Given the description of an element on the screen output the (x, y) to click on. 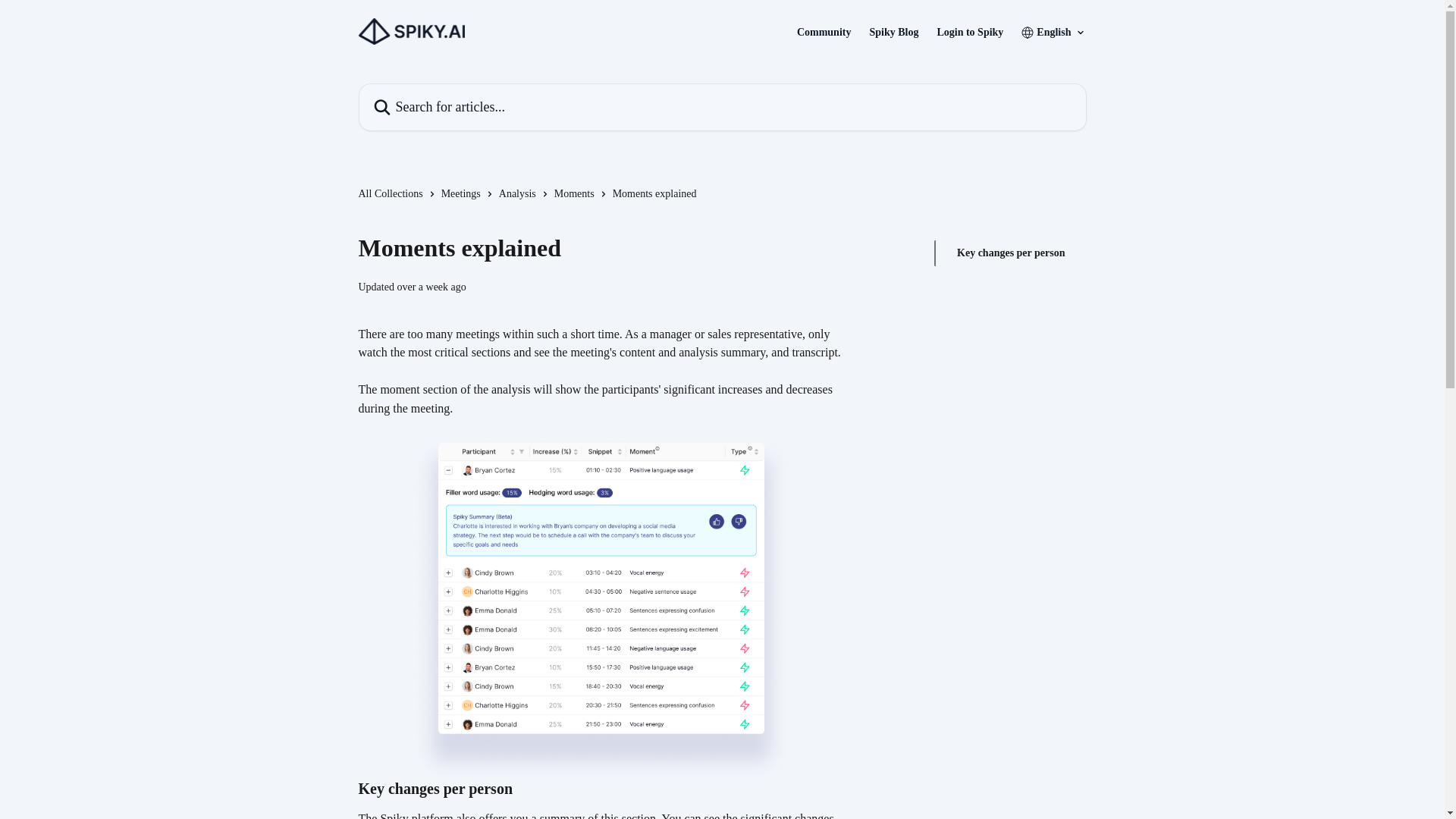
Key changes per person (1010, 252)
Moments (576, 193)
Meetings (463, 193)
All Collections (393, 193)
Login to Spiky (969, 32)
Spiky Blog (893, 32)
Analysis (520, 193)
Community (823, 32)
